Given the description of an element on the screen output the (x, y) to click on. 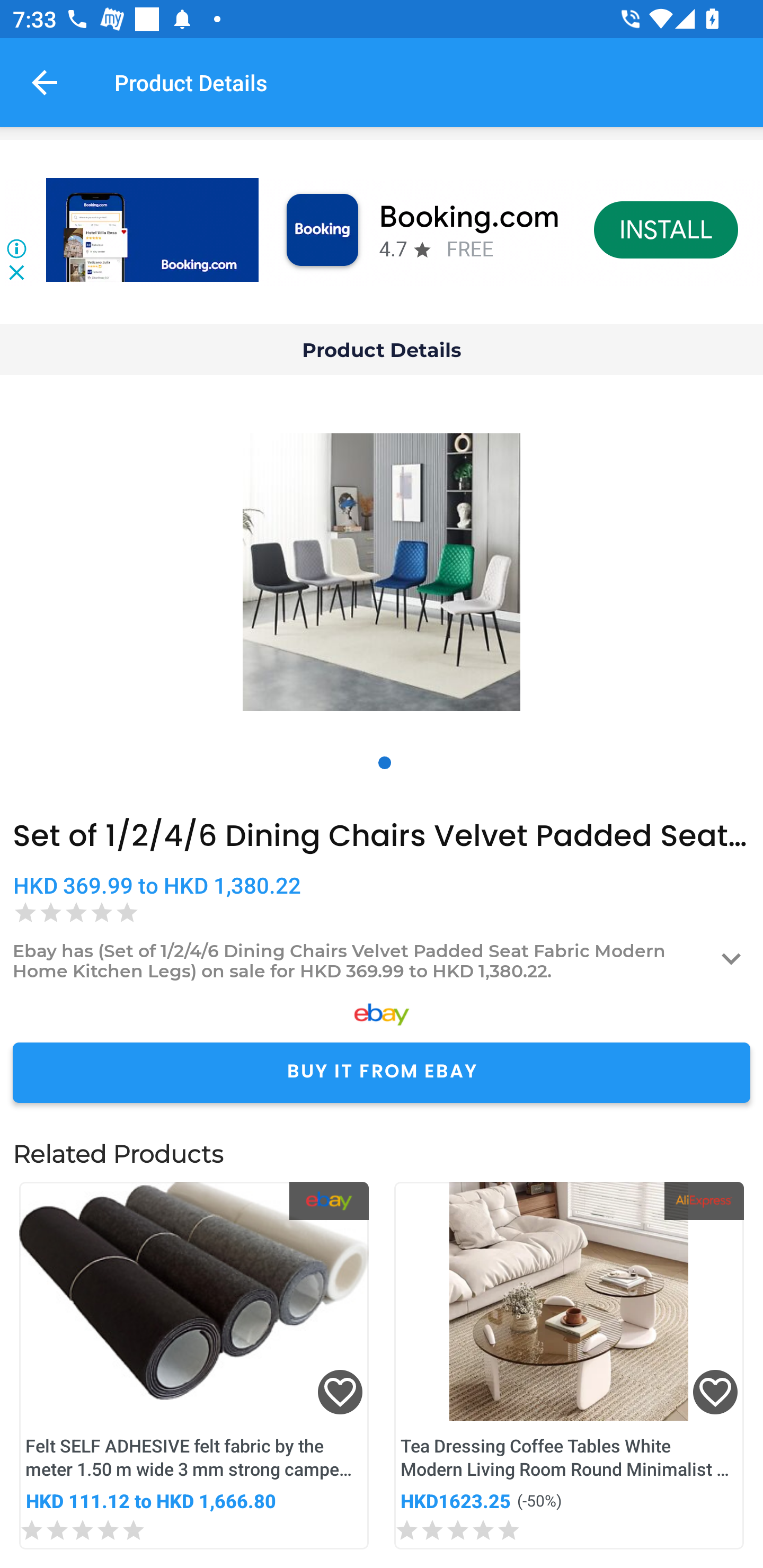
Navigate up (44, 82)
Booking.com (469, 217)
INSTALL (665, 229)
BUY IT FROM EBAY (381, 1072)
